Given the description of an element on the screen output the (x, y) to click on. 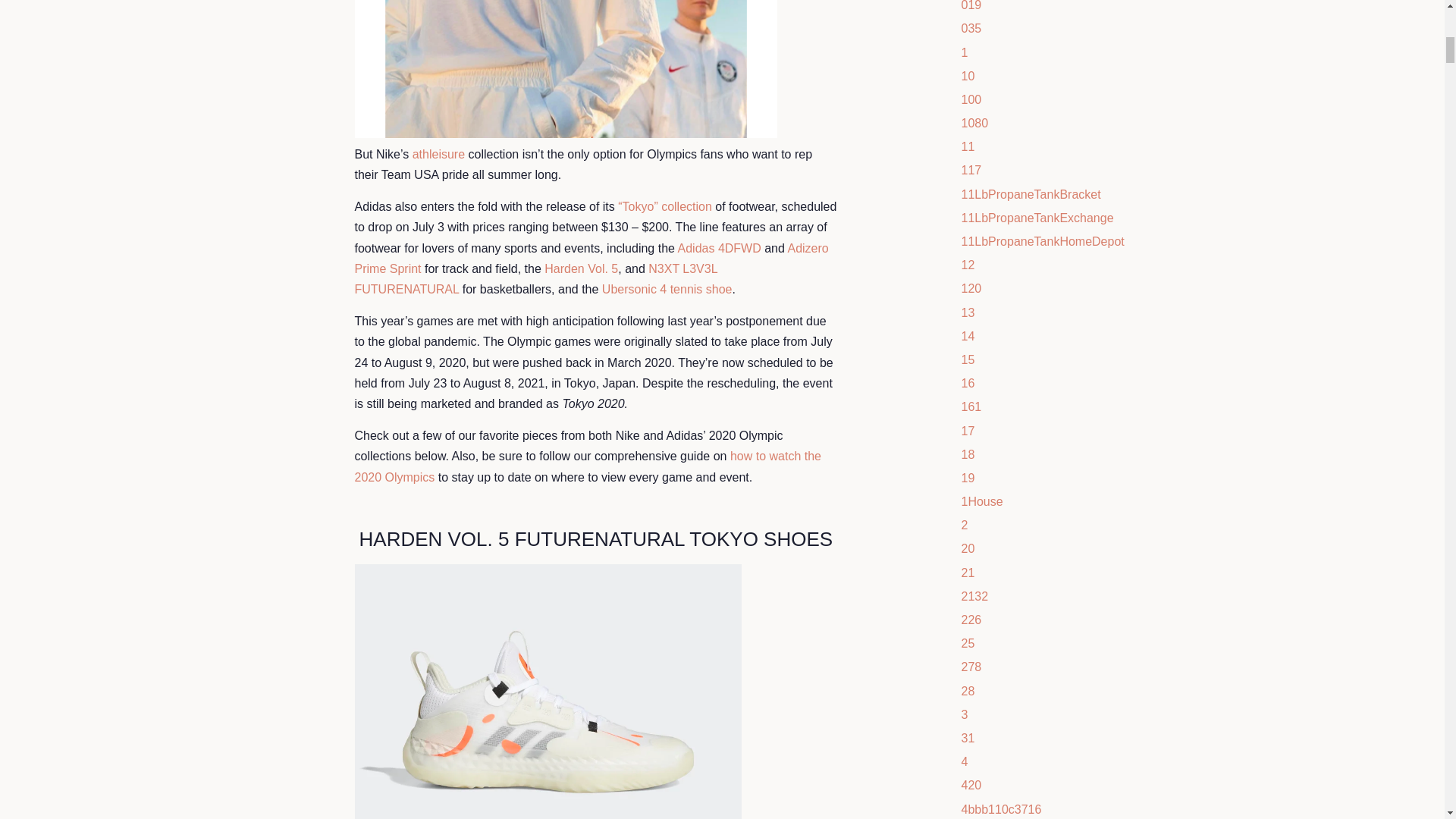
Show articles tagged 120 (970, 287)
Show articles tagged 11LbPropaneTankExchange (1036, 217)
Show articles tagged 1080 (974, 123)
Show articles tagged 019 (970, 5)
Harden Vol. 5 (580, 268)
Show articles tagged 13 (967, 312)
N3XT L3V3L FUTURENATURAL (536, 278)
Show articles tagged 11LbPropaneTankHomeDepot (1042, 241)
Show articles tagged 100 (970, 99)
Ubersonic 4 tennis shoe (667, 288)
Show articles tagged 14 (967, 336)
how to watch the 2020 Olympics (588, 466)
Show articles tagged 10 (967, 75)
Show articles tagged 15 (967, 359)
Show articles tagged 11 (967, 146)
